Given the description of an element on the screen output the (x, y) to click on. 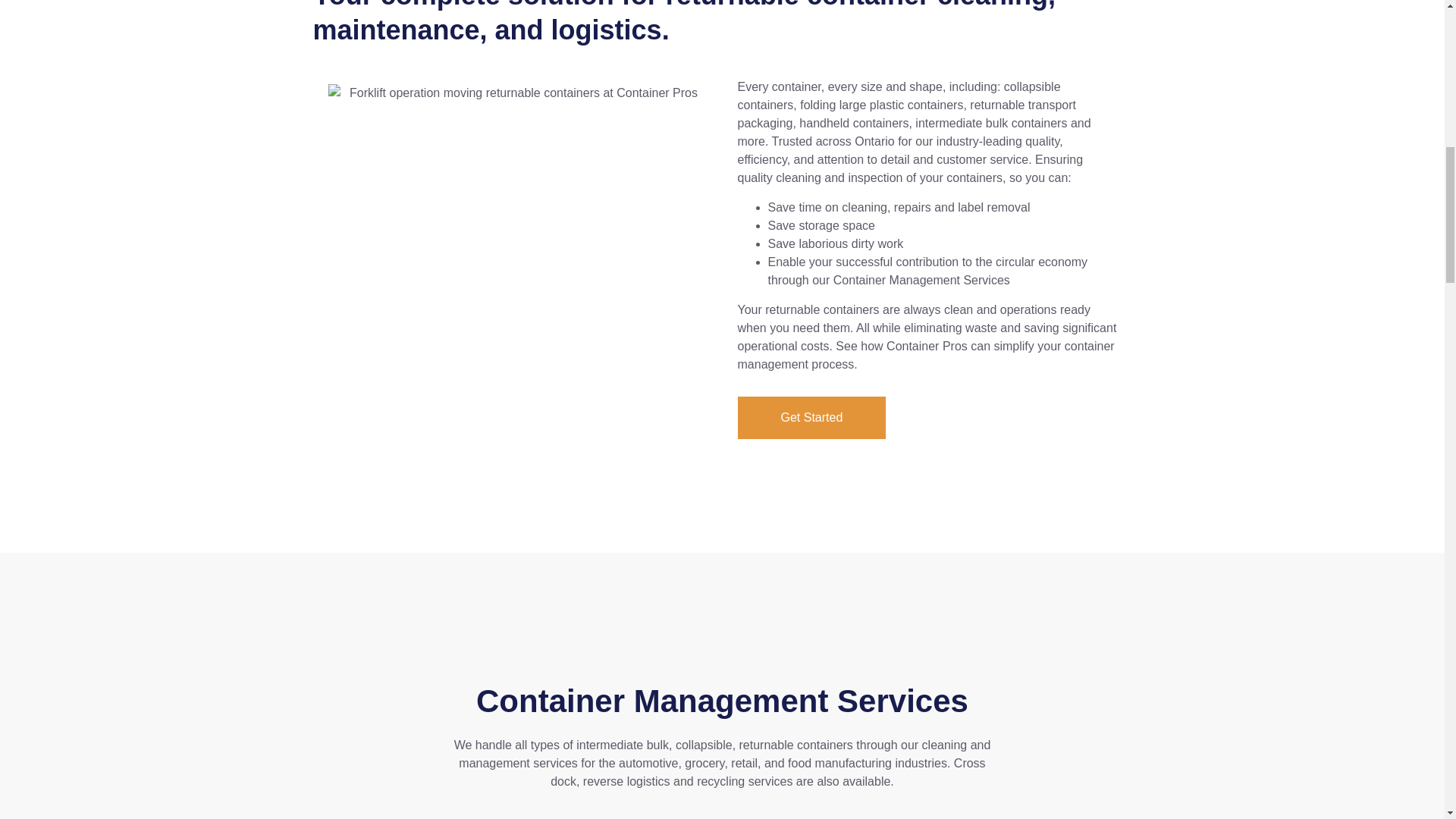
Get Started (810, 417)
